Given the description of an element on the screen output the (x, y) to click on. 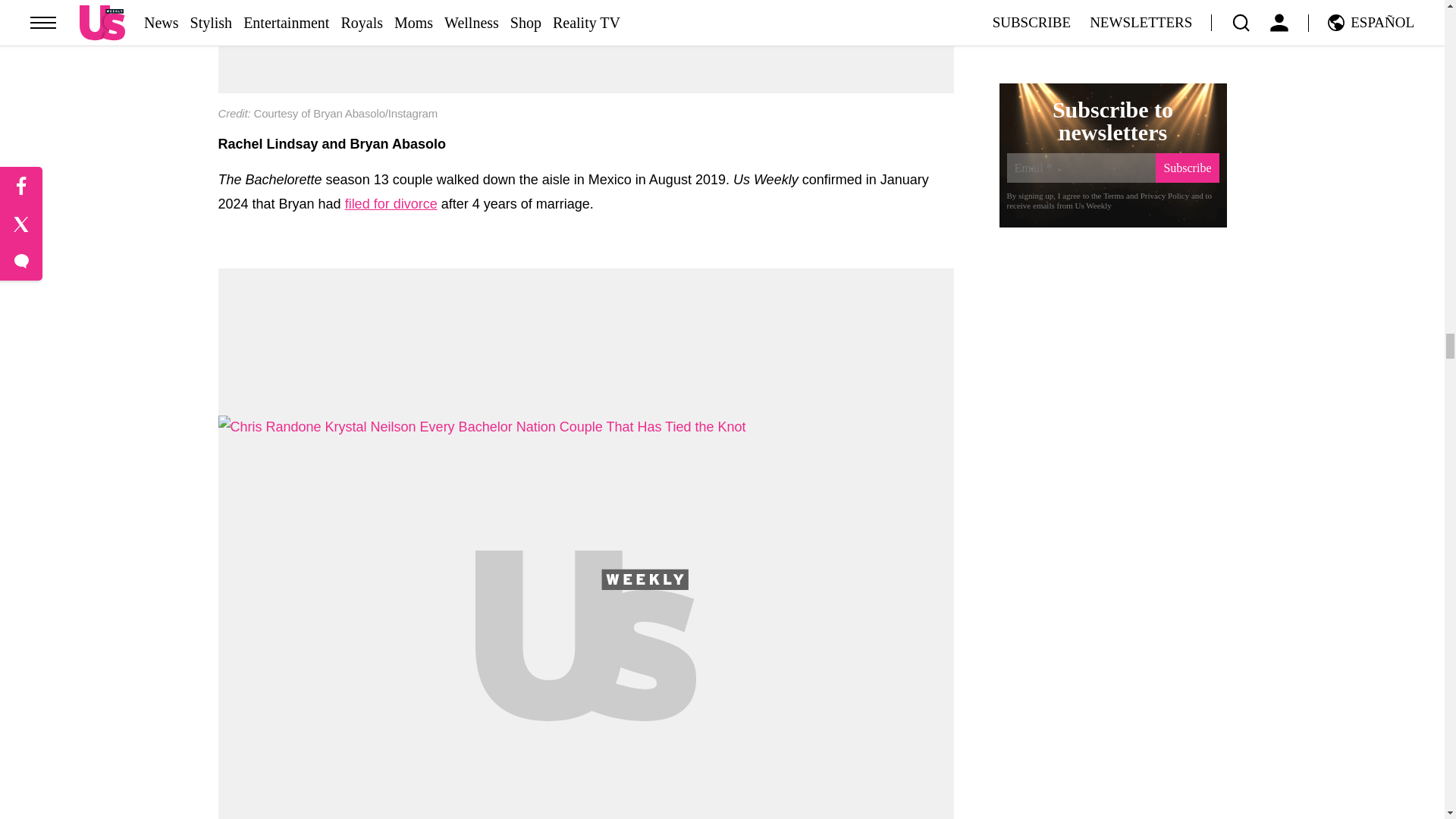
Rachel Lindsay and Bryan Abasolo (585, 47)
